Given the description of an element on the screen output the (x, y) to click on. 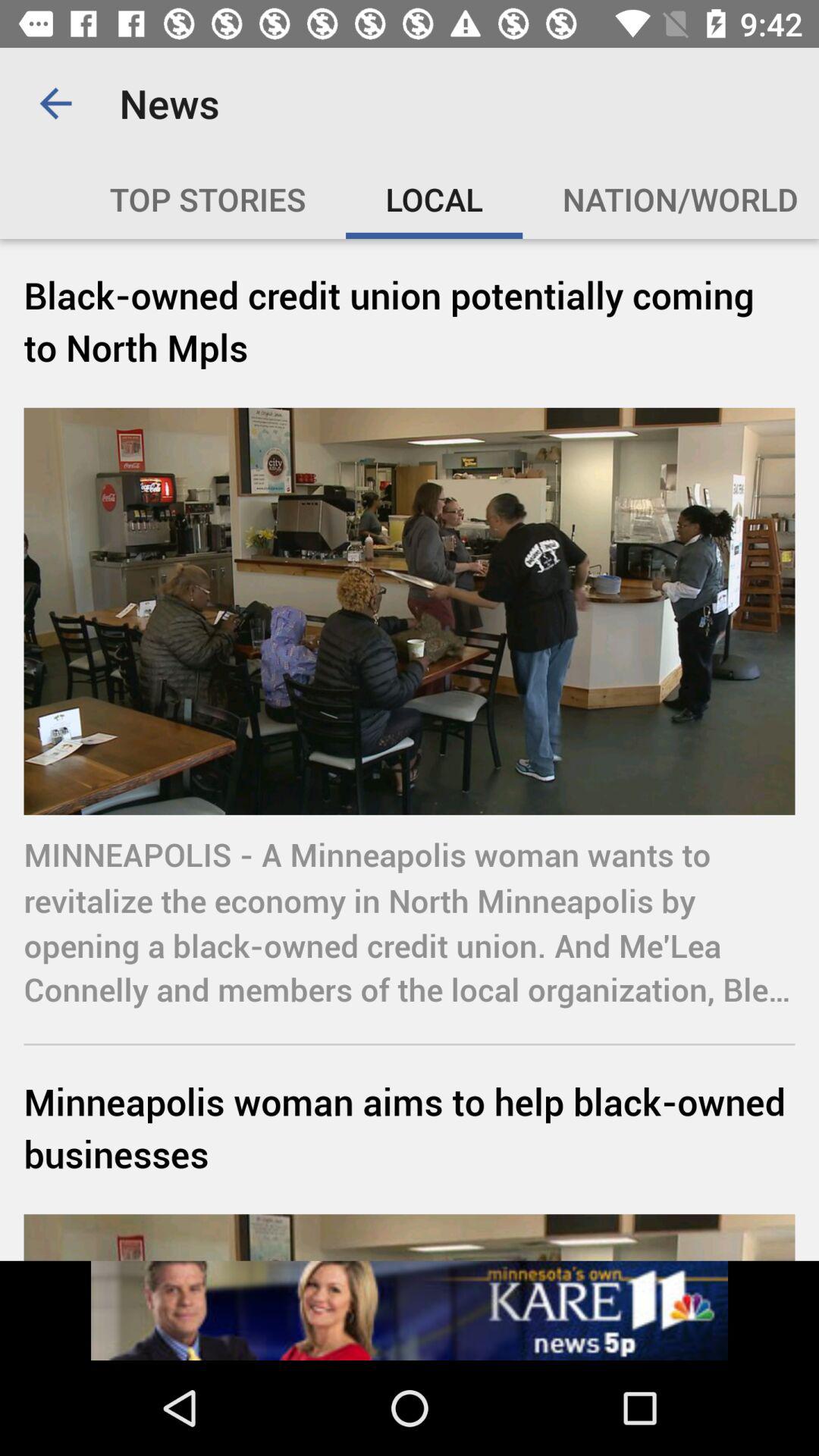
advertisement (409, 1310)
